Given the description of an element on the screen output the (x, y) to click on. 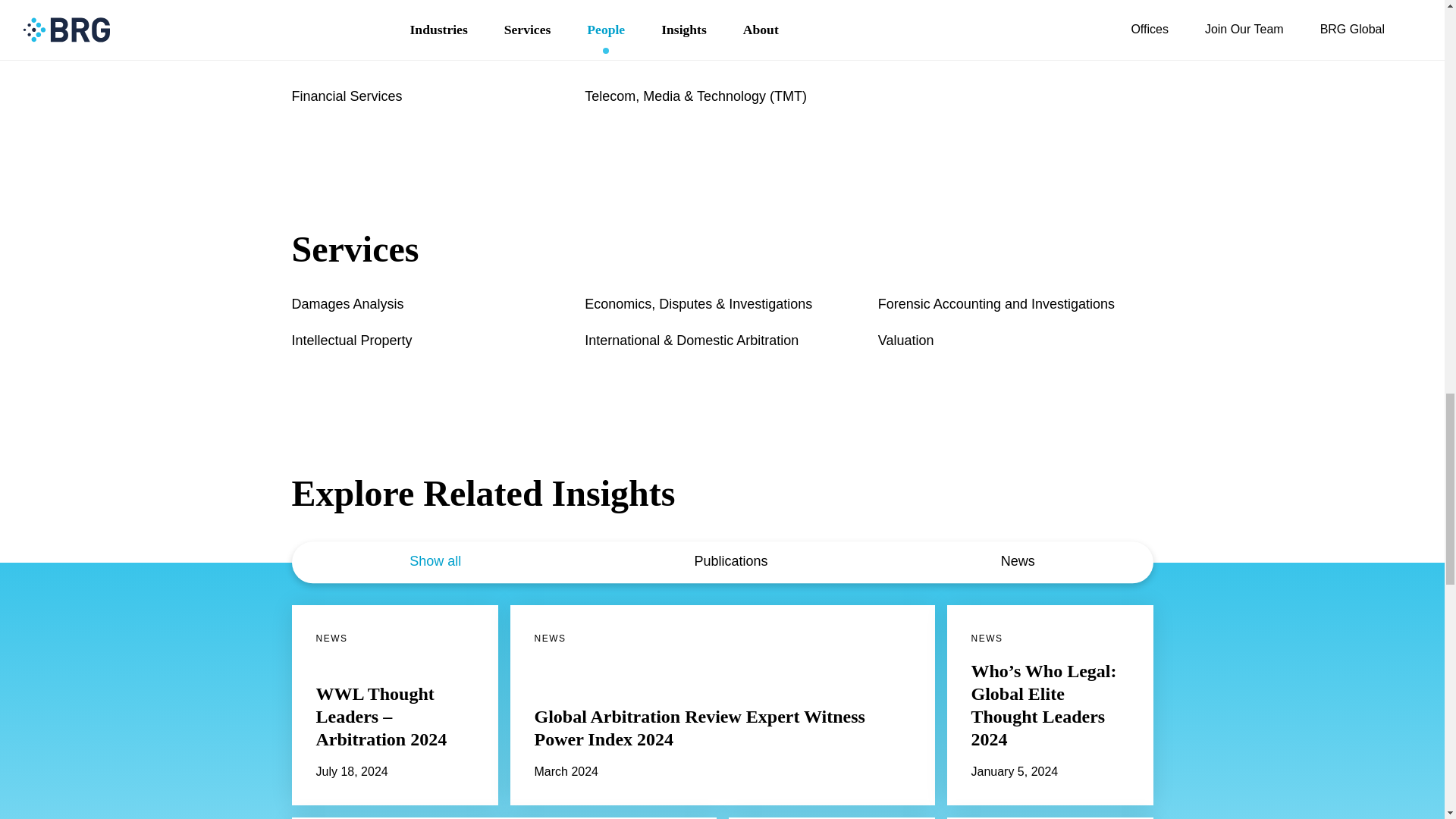
News (1007, 561)
Show all (435, 561)
Damages Analysis (347, 303)
Publications (719, 561)
Financial Services (346, 96)
Valuation (905, 340)
Forensic Accounting and Investigations (996, 303)
Intellectual Property (351, 340)
